Given the description of an element on the screen output the (x, y) to click on. 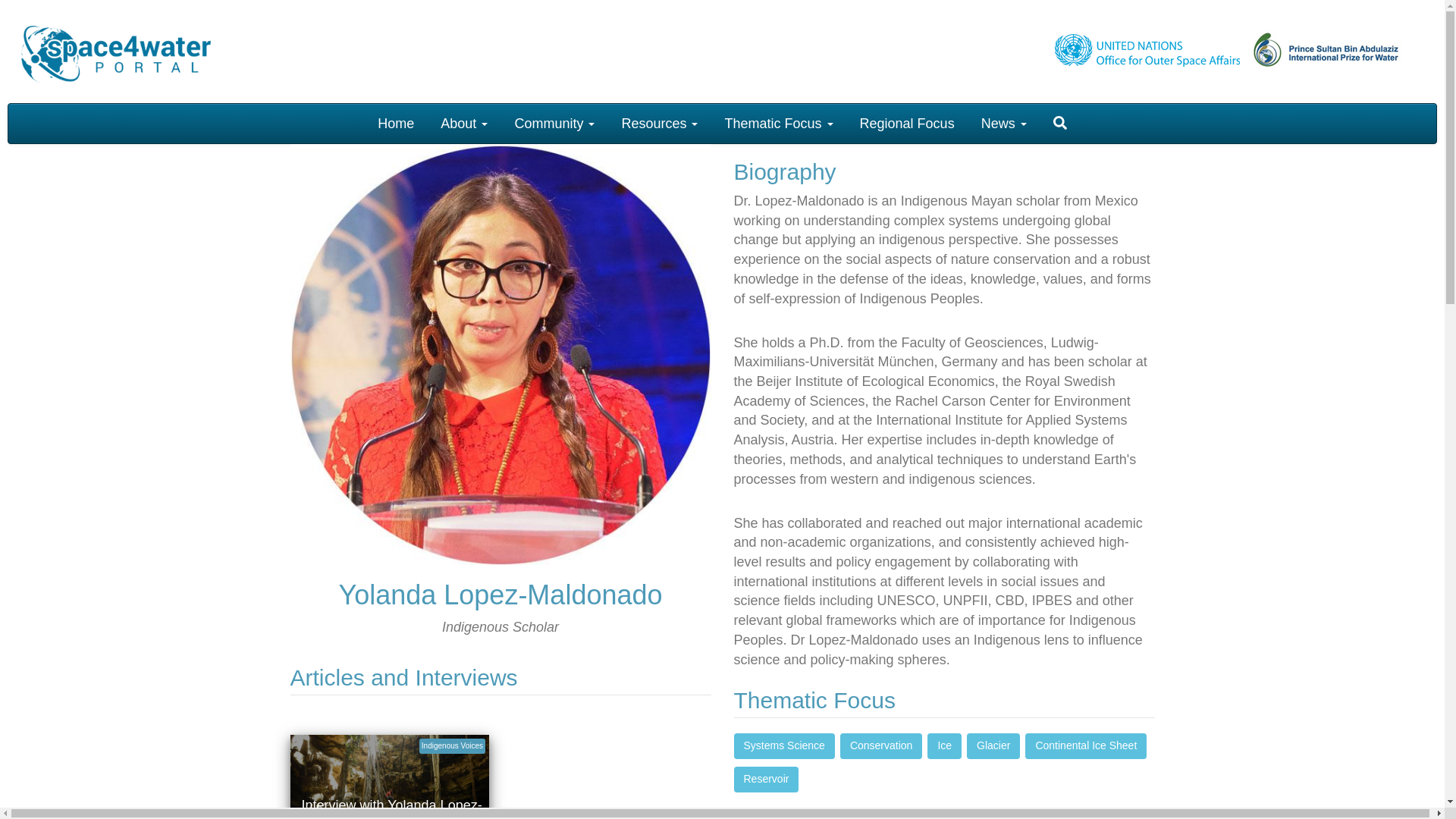
United Nations Office for Outer Space Affairs (1150, 48)
Thematic Focus (778, 123)
Prince Sultan Bin Abdulaziz International Price for Water (1342, 48)
Home (116, 53)
Community (553, 123)
Home (395, 123)
Resources (659, 123)
About (464, 123)
Regional Focus (907, 123)
News (1003, 123)
